Given the description of an element on the screen output the (x, y) to click on. 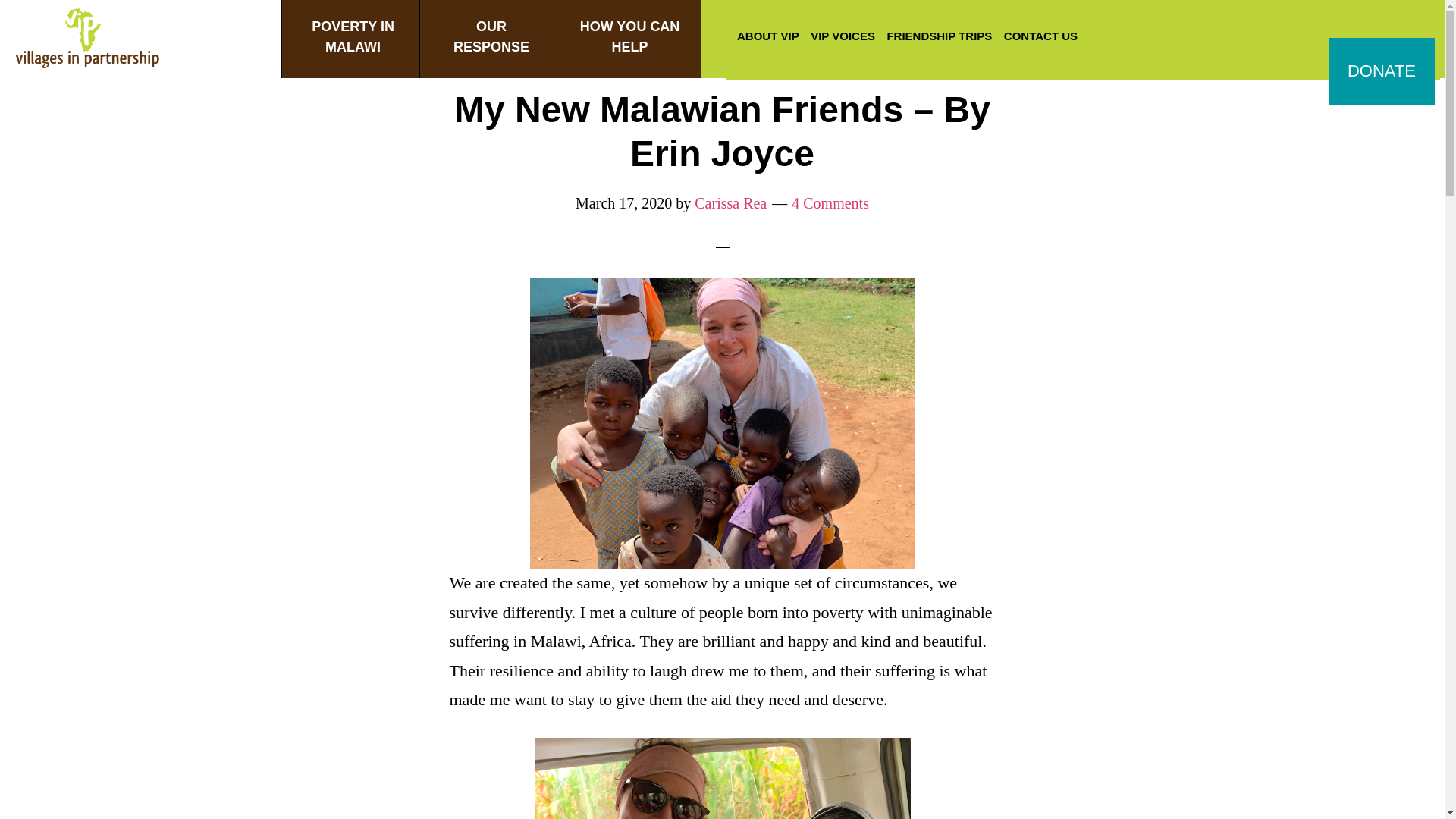
VILLAGES IN PARTNERSHIP (87, 44)
Carissa Rea (730, 202)
VIP VOICES (842, 38)
CONTACT US (1040, 38)
FRIENDSHIP TRIPS (491, 38)
Skip to primary navigation (938, 38)
POVERTY IN MALAWI (629, 38)
ABOUT VIP (352, 38)
